Given the description of an element on the screen output the (x, y) to click on. 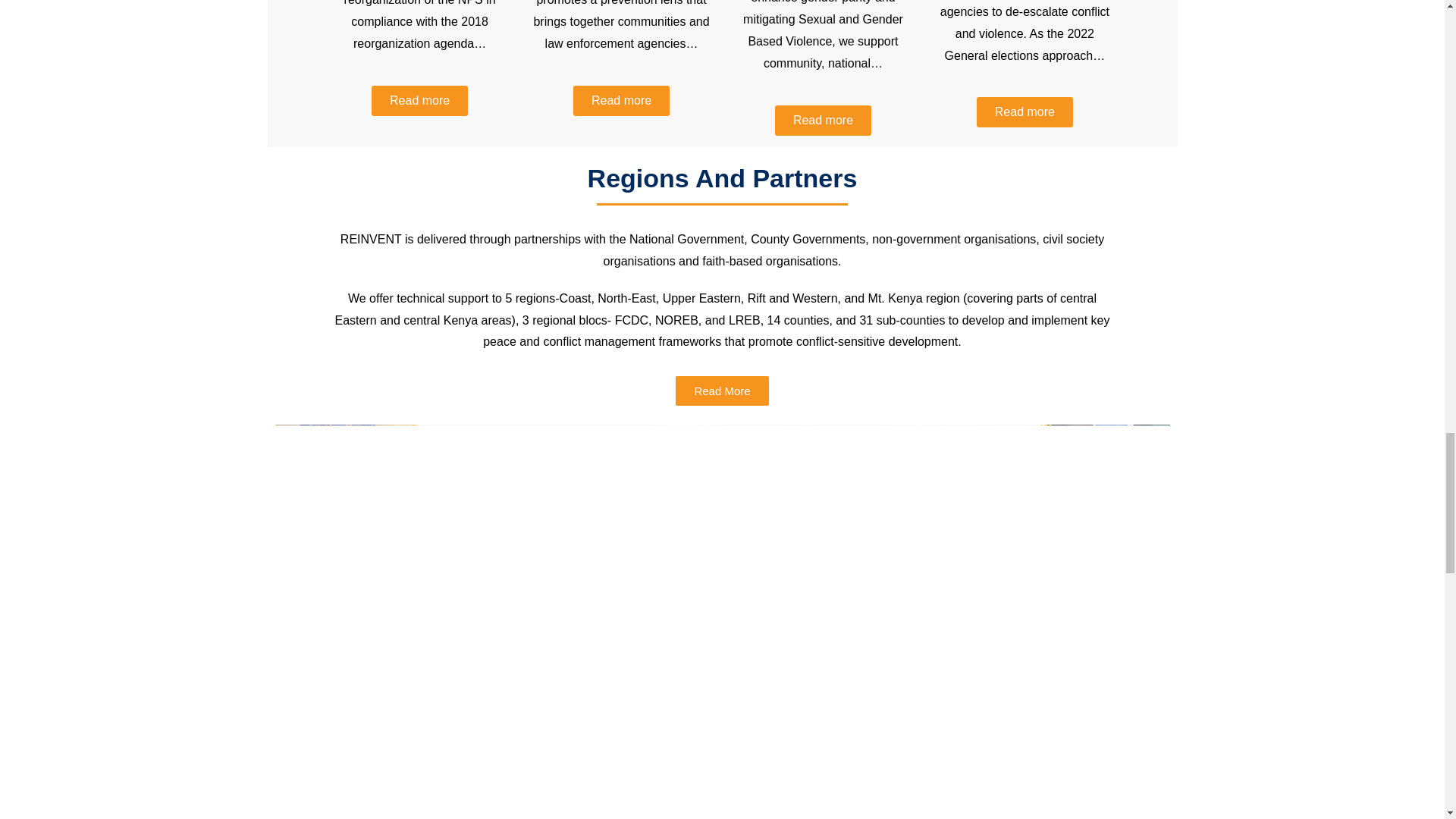
Read more (822, 120)
Read more (419, 100)
Read More (721, 390)
Read more (1024, 112)
Read more (621, 100)
